Given the description of an element on the screen output the (x, y) to click on. 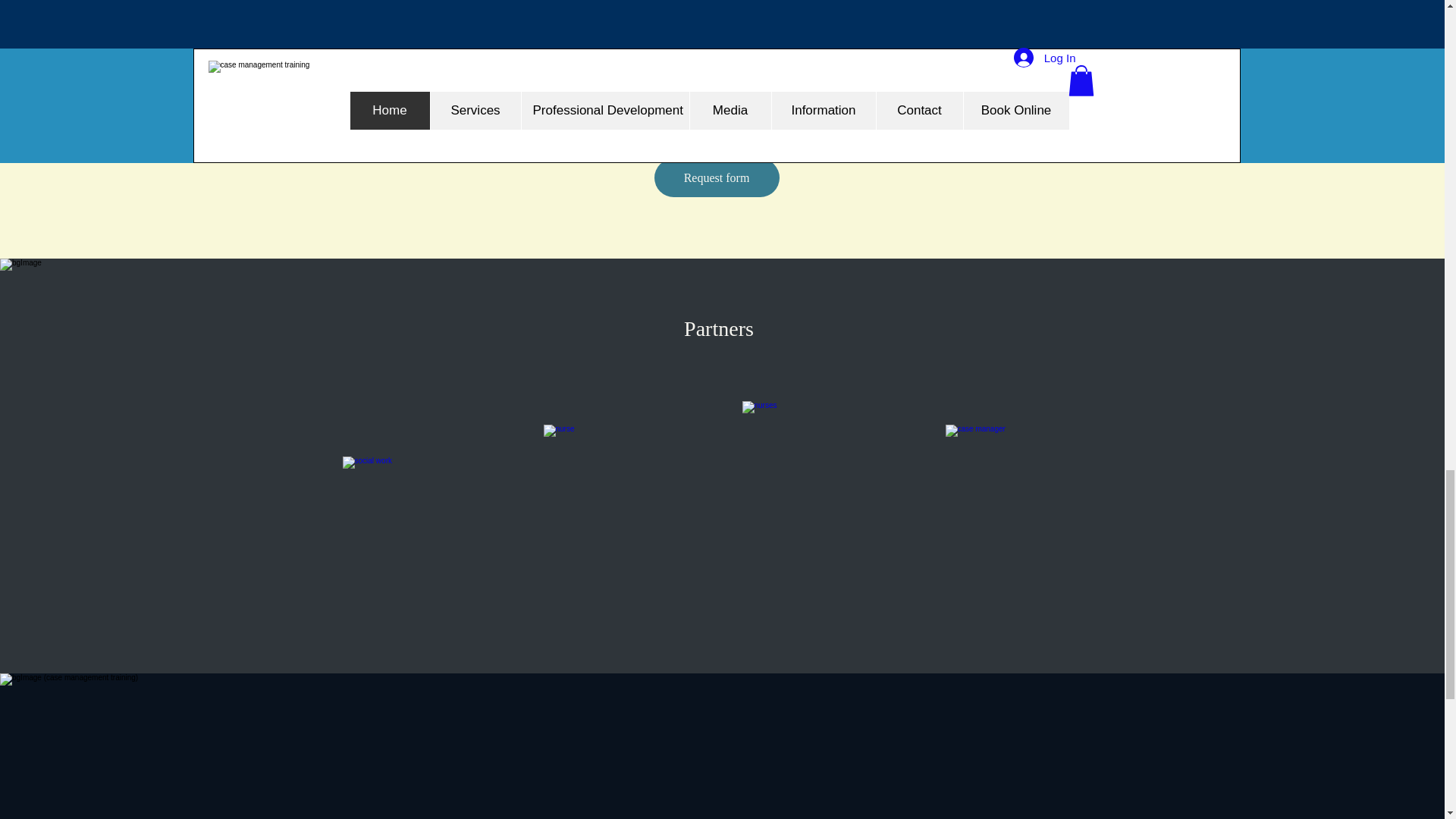
Request form (715, 177)
